Given the description of an element on the screen output the (x, y) to click on. 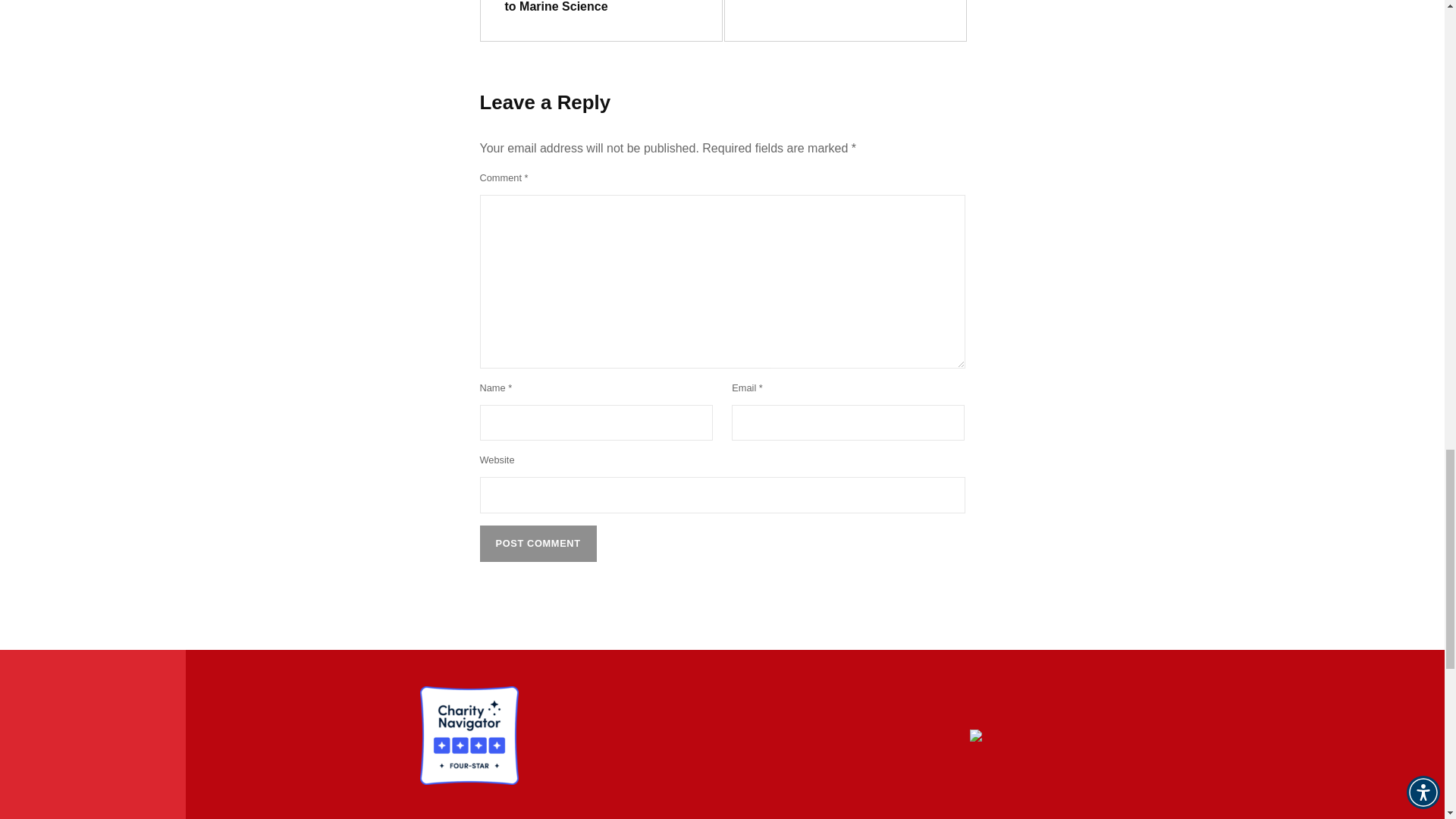
Post Comment (537, 543)
